Given the description of an element on the screen output the (x, y) to click on. 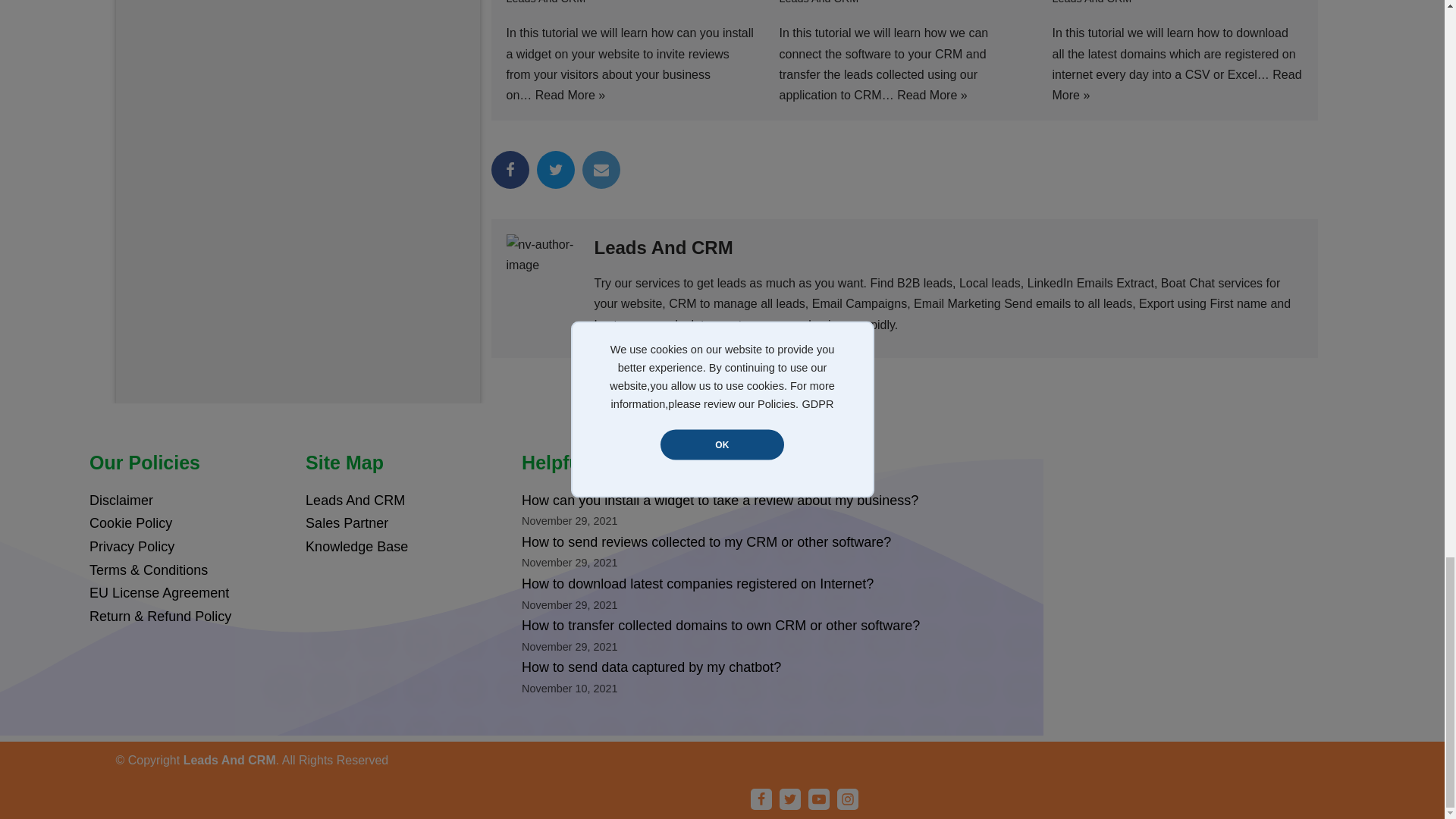
Facebook (761, 798)
Email (601, 169)
Twitter (789, 798)
Instagram (848, 798)
Facebook (510, 169)
Twitter (556, 169)
Youtube (818, 798)
